Given the description of an element on the screen output the (x, y) to click on. 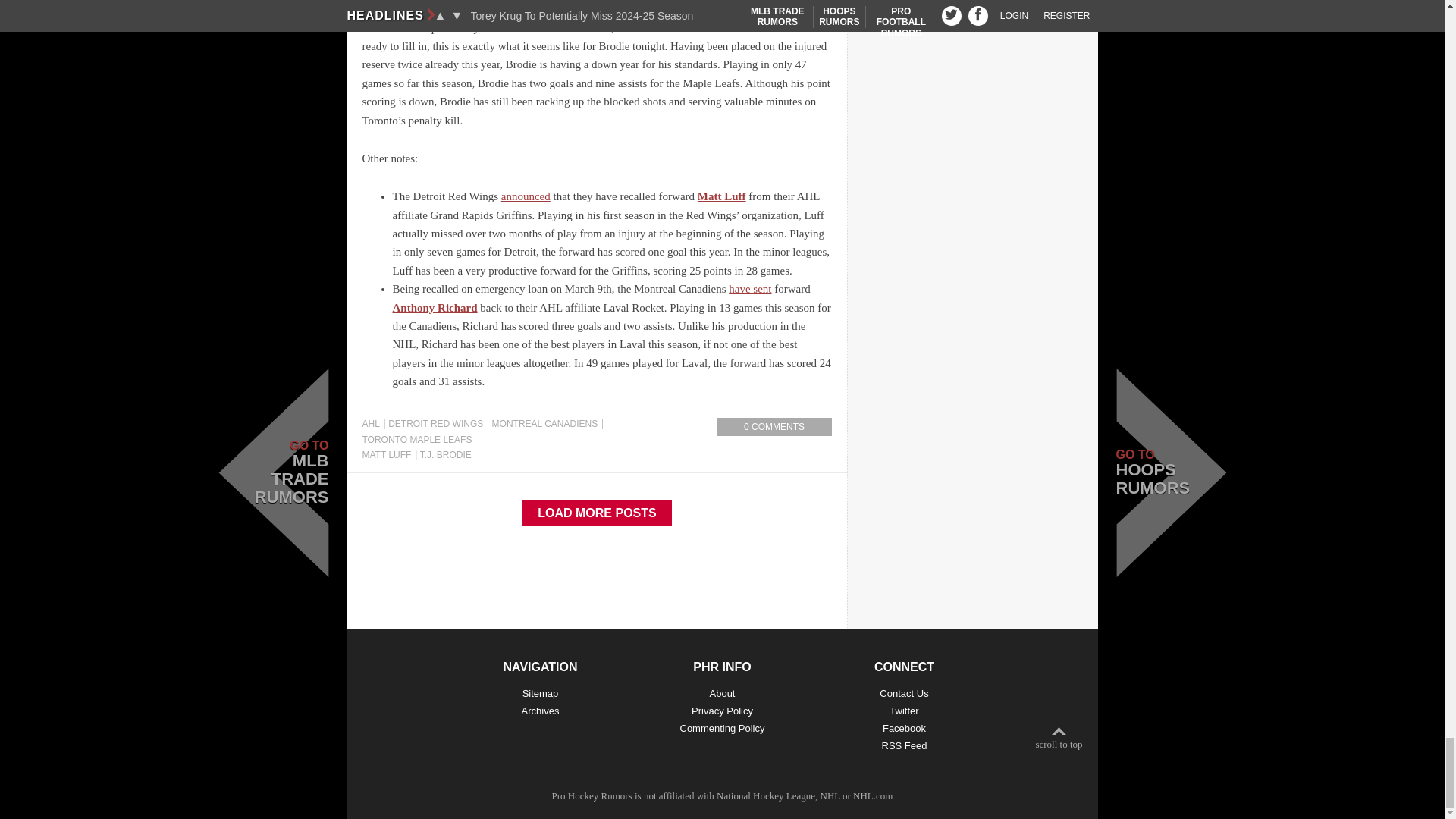
Pro Hockey Rumors (591, 795)
